Given the description of an element on the screen output the (x, y) to click on. 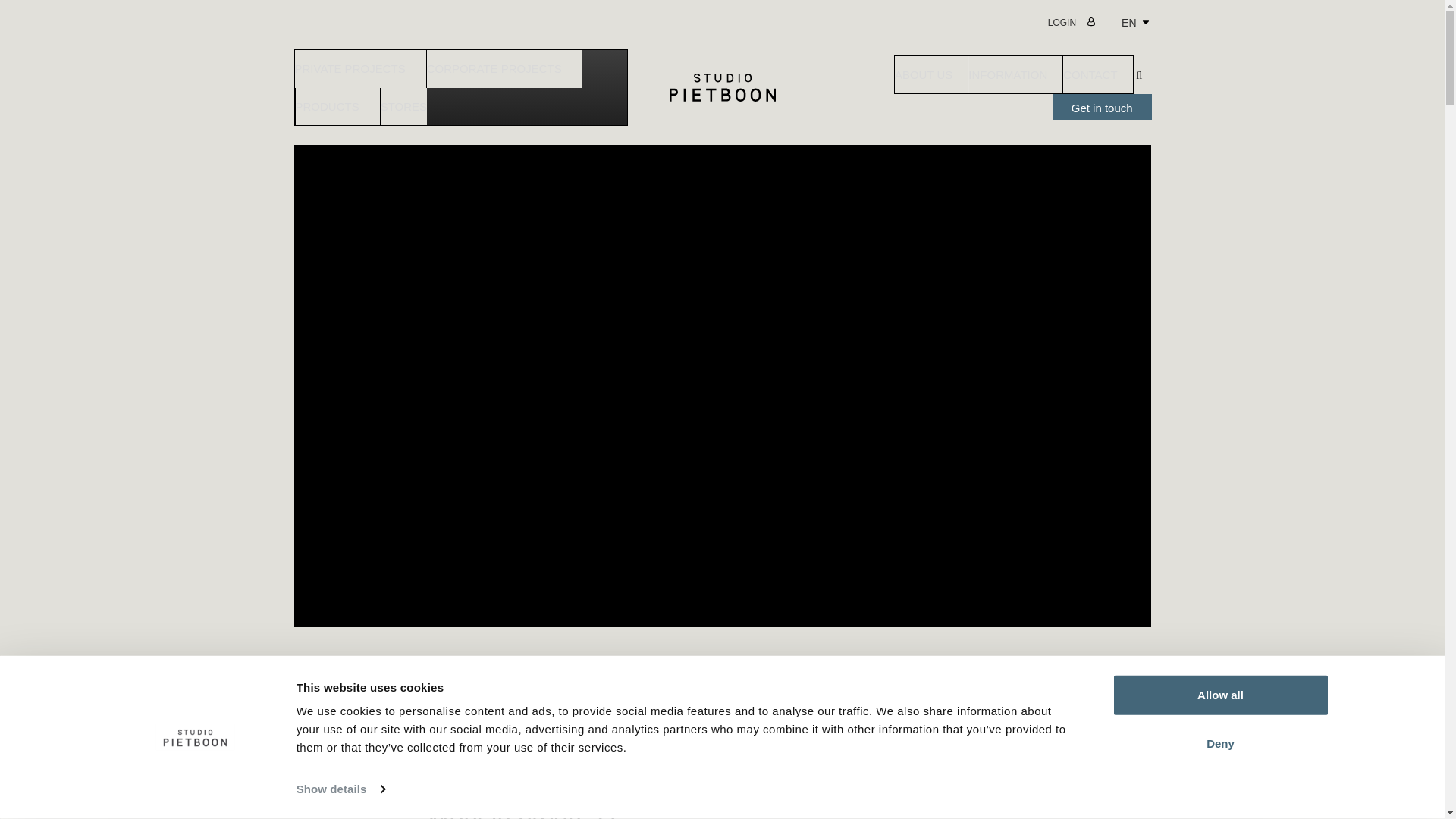
Show details (460, 87)
